Given the description of an element on the screen output the (x, y) to click on. 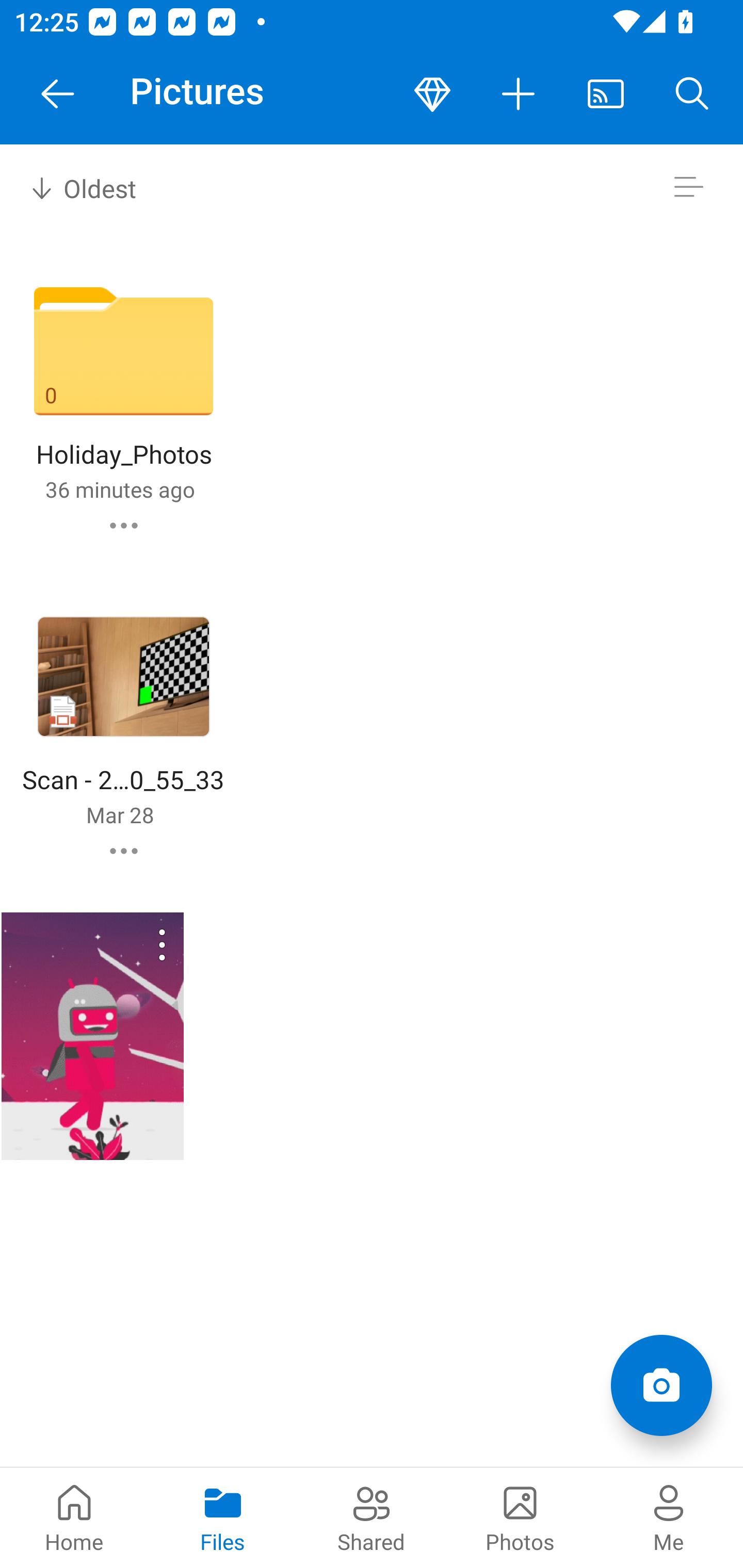
Navigate Up (57, 93)
Cast. Disconnected (605, 93)
Premium button (432, 93)
More actions button (518, 93)
Search button (692, 93)
Oldest Sort by combo box, sort by oldest (80, 187)
Switch to list view (688, 187)
36 minutes ago (119, 489)
Holiday_Photos commands (123, 525)
Mar 28 (120, 814)
Scan - 2024-03-28 10_55_33 commands (123, 851)
Document Test_IMG Test_IMG commands (92, 1036)
Test_IMG commands (136, 944)
Add items Scan (660, 1385)
Home pivot Home (74, 1517)
Shared pivot Shared (371, 1517)
Photos pivot Photos (519, 1517)
Me pivot Me (668, 1517)
